Given the description of an element on the screen output the (x, y) to click on. 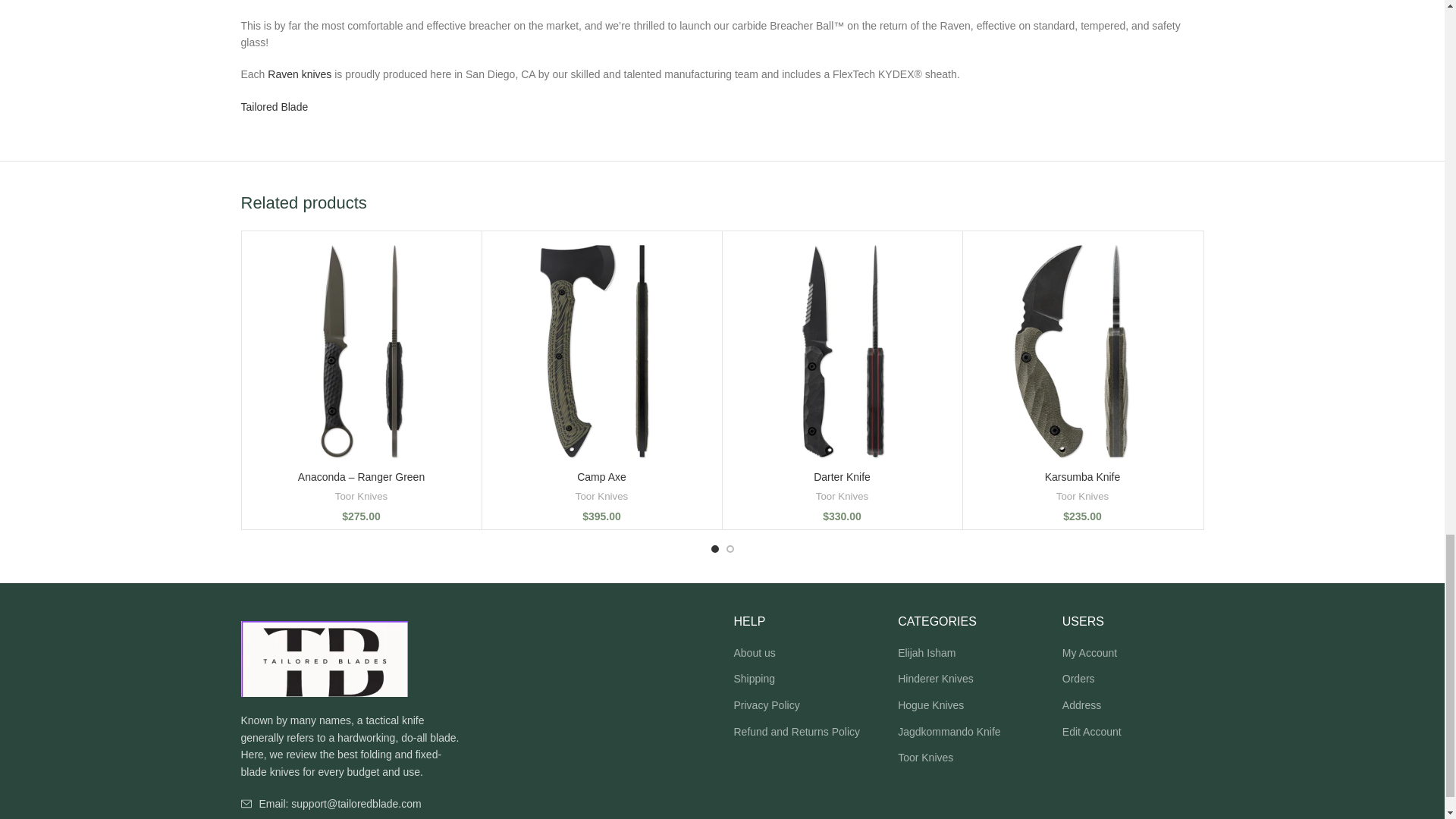
wd-envelope-light (246, 803)
